Given the description of an element on the screen output the (x, y) to click on. 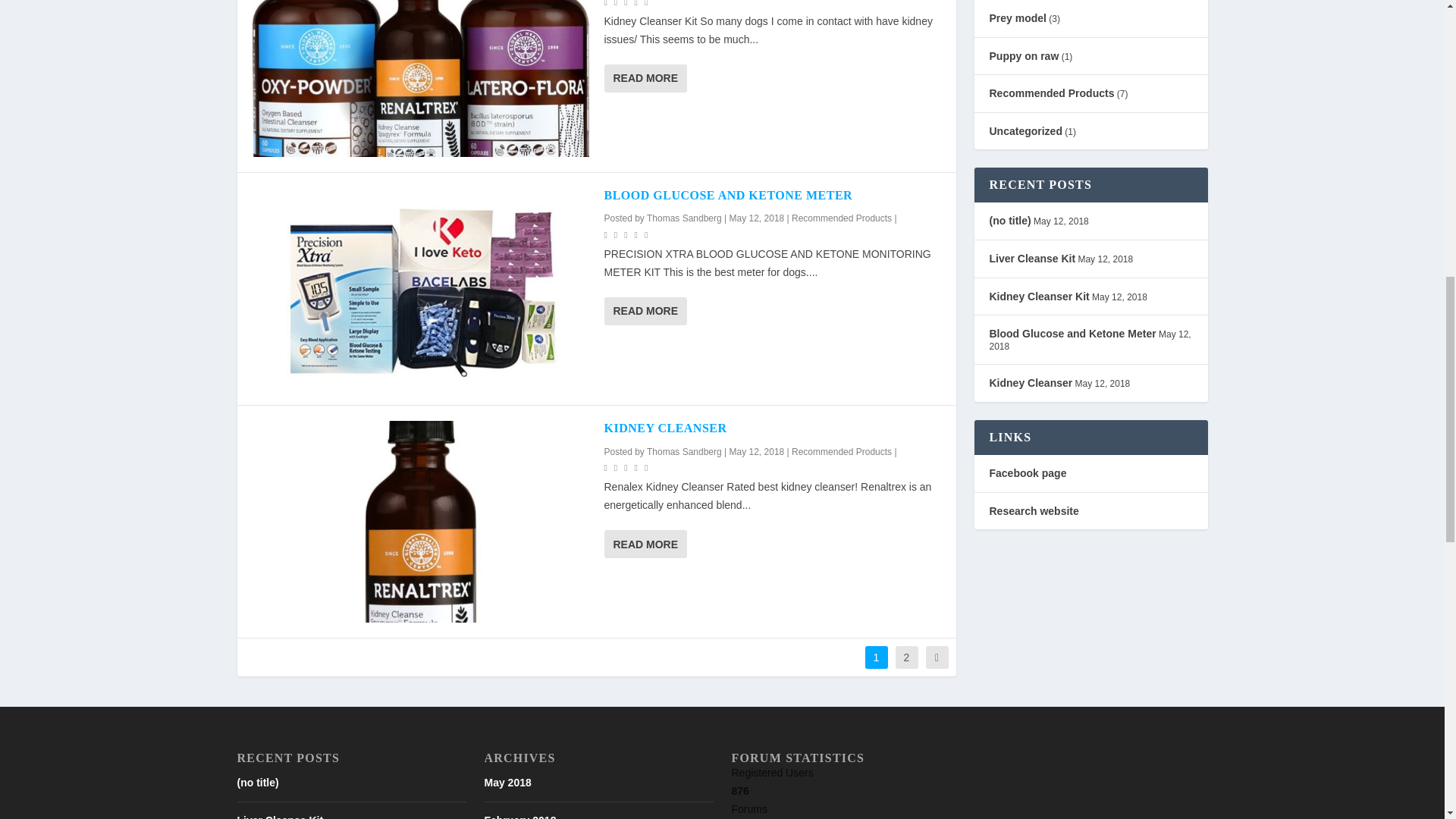
Blood Glucose and Ketone Meter (419, 288)
Rating: 0.00 (627, 233)
Kidney Cleanser Kit (419, 78)
Rating: 0.00 (627, 4)
Posts by Thomas Sandberg (684, 217)
